Given the description of an element on the screen output the (x, y) to click on. 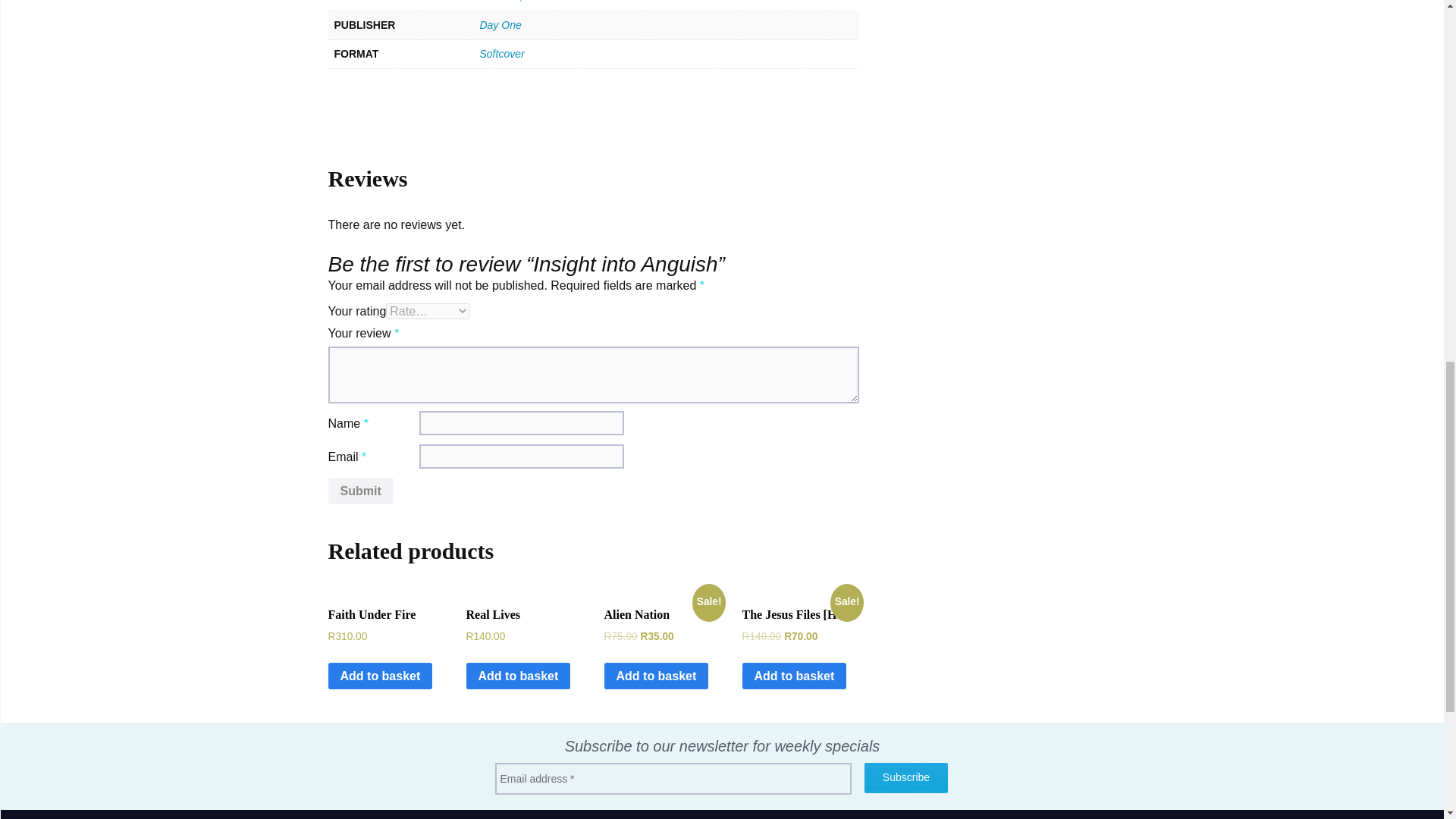
Subscribe (905, 777)
Submit (360, 491)
Email address (672, 778)
